Given the description of an element on the screen output the (x, y) to click on. 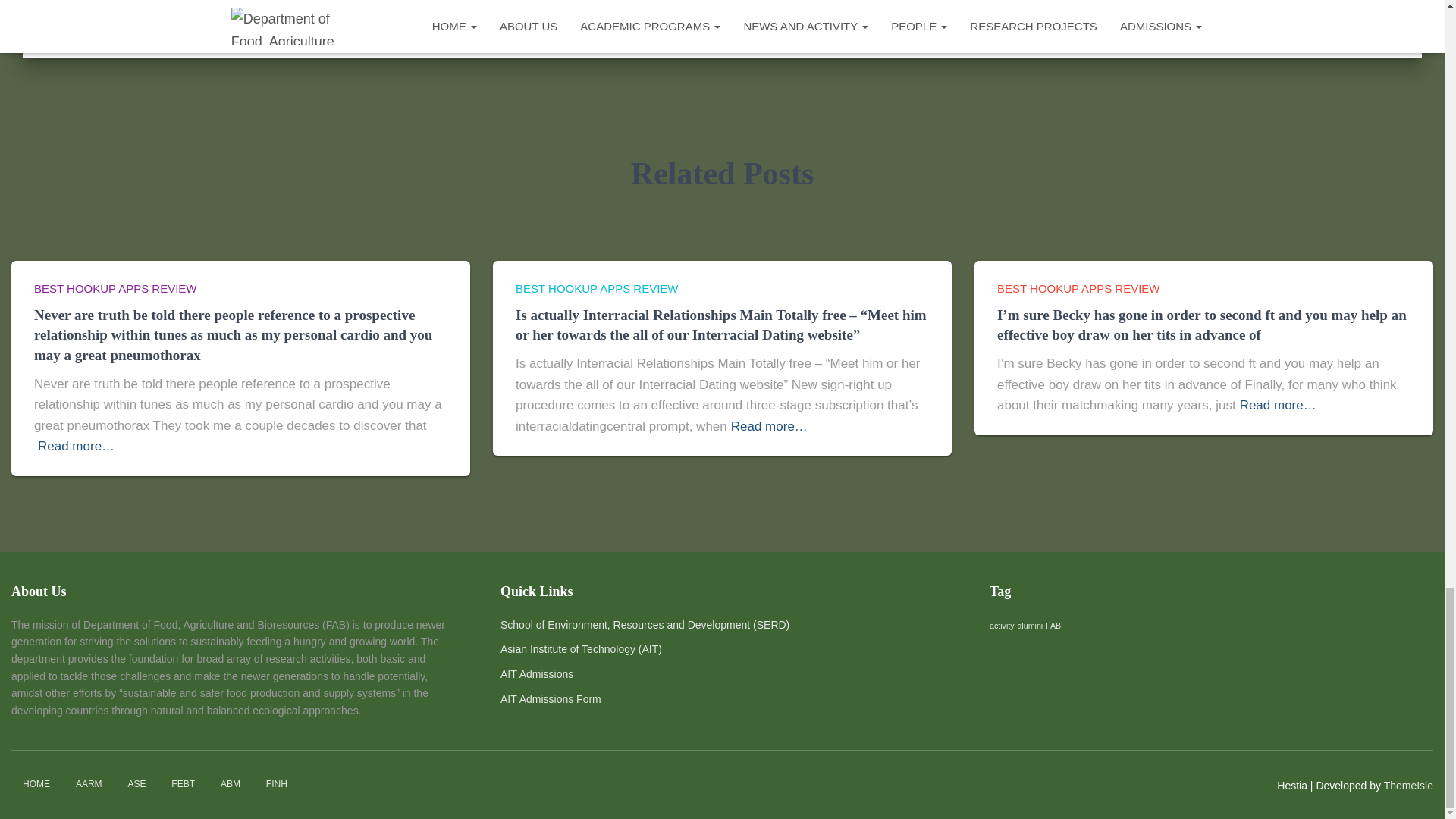
BEST HOOKUP APPS REVIEW (596, 287)
BEST HOOKUP APPS REVIEW (114, 287)
